Given the description of an element on the screen output the (x, y) to click on. 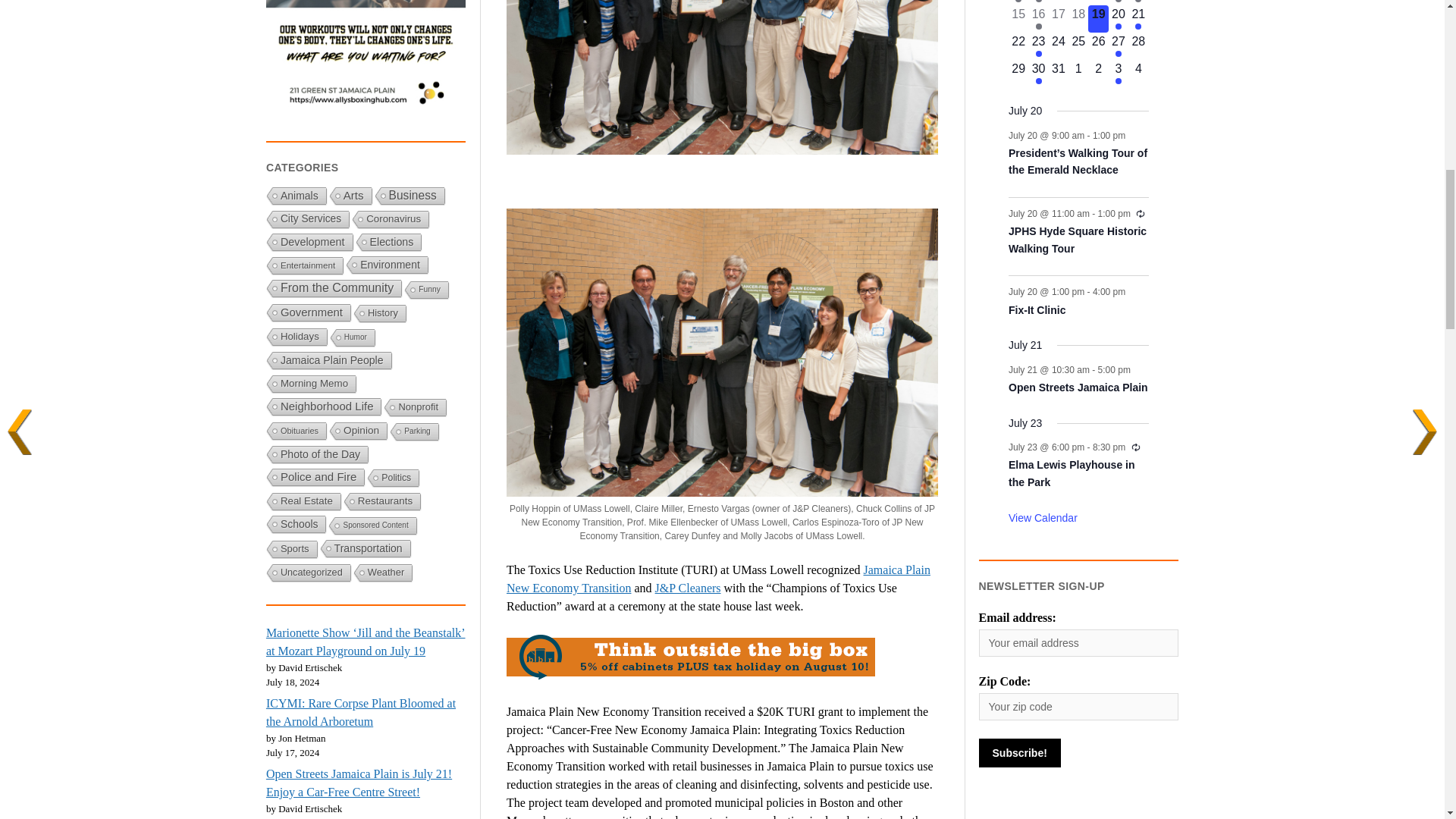
Elections (386, 242)
Coronavirus (389, 220)
Funny (425, 290)
Environment (385, 265)
History (379, 313)
Animals (295, 196)
Arts (349, 196)
From the Community (332, 289)
Development (308, 242)
Recurring (1139, 213)
Government (307, 312)
Subscribe! (1019, 752)
Entertainment (303, 266)
City Services (306, 220)
Ally's Boxing  (365, 61)
